Given the description of an element on the screen output the (x, y) to click on. 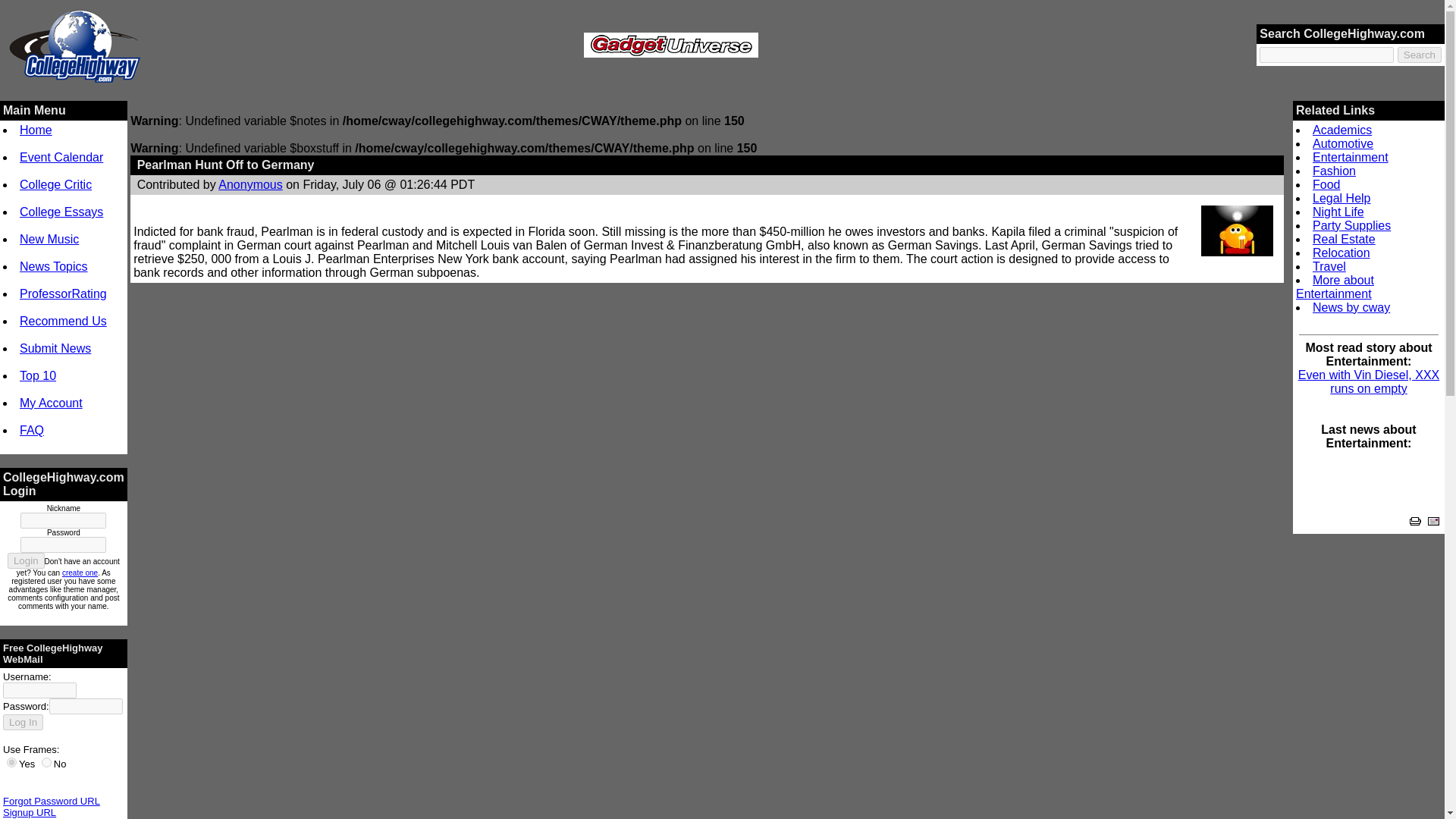
College Critic (55, 184)
Signup URL (29, 811)
FAQ (31, 430)
College Essays (61, 211)
News Topics (53, 266)
Submit News (55, 348)
Top 10 (38, 375)
Event Calendar (61, 156)
Recommend Us (63, 320)
1 (11, 762)
